Given the description of an element on the screen output the (x, y) to click on. 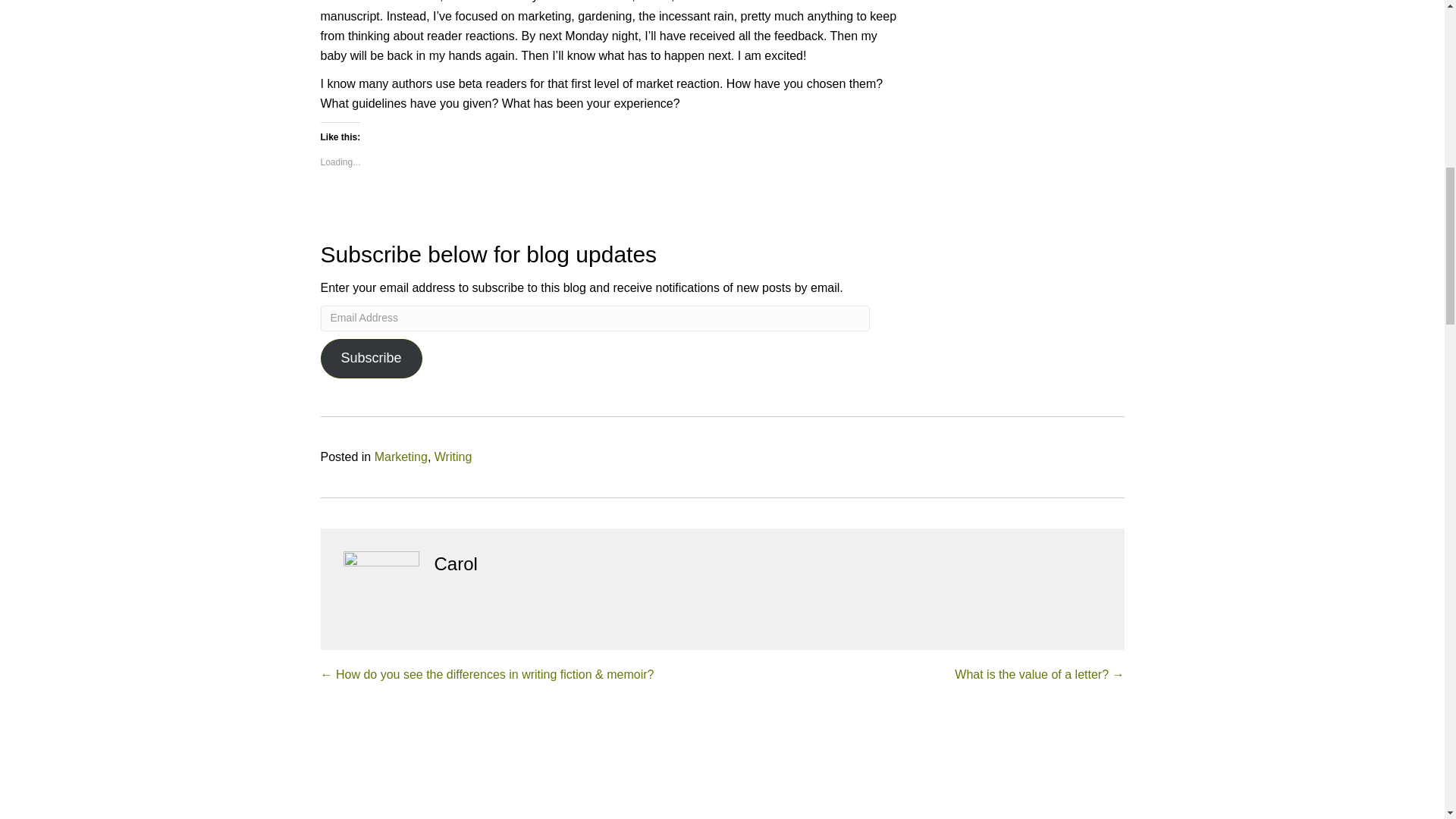
Writing (452, 456)
Marketing (401, 456)
Subscribe (371, 358)
